Given the description of an element on the screen output the (x, y) to click on. 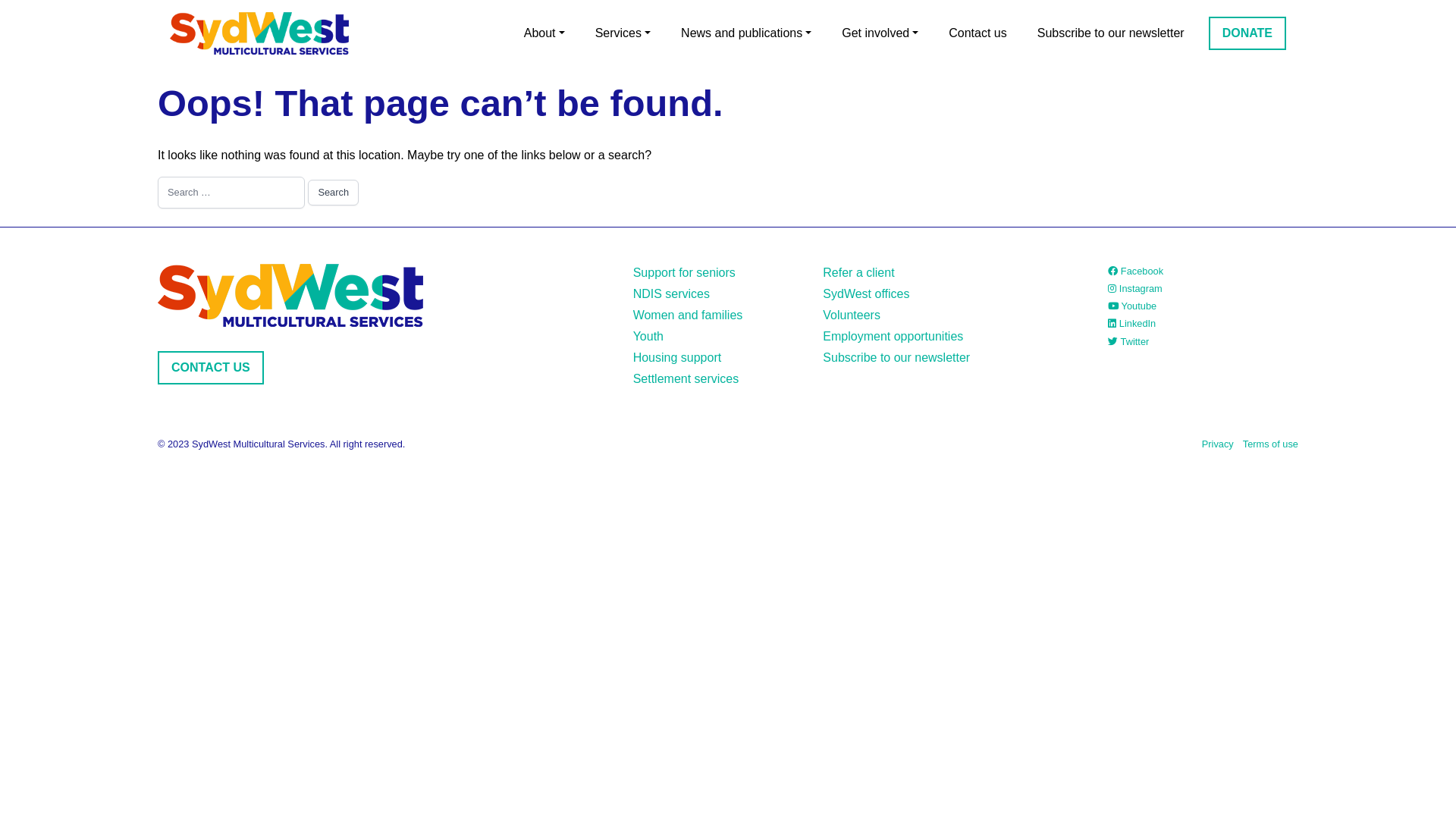
Support for seniors Element type: text (684, 272)
Search Element type: text (332, 192)
Employment opportunities Element type: text (892, 335)
Youtube Element type: text (1131, 305)
Contact us Element type: text (977, 33)
Terms of use Element type: text (1270, 443)
Privacy Element type: text (1217, 443)
Volunteers Element type: text (851, 314)
Youth Element type: text (648, 335)
CONTACT US Element type: text (210, 367)
Twitter Element type: text (1127, 341)
Facebook Element type: text (1135, 270)
Services Element type: text (622, 33)
Subscribe to our newsletter Element type: text (895, 357)
Instagram Element type: text (1134, 288)
Women and families Element type: text (688, 314)
LinkedIn Element type: text (1131, 323)
Refer a client Element type: text (858, 272)
SydWest offices Element type: text (865, 293)
Get involved Element type: text (879, 33)
Settlement services Element type: text (686, 378)
NDIS services Element type: text (671, 293)
Subscribe to our newsletter Element type: text (1110, 33)
Housing support Element type: text (677, 357)
About Element type: text (544, 33)
News and publications Element type: text (745, 33)
Search for: Element type: hover (230, 192)
DONATE Element type: text (1247, 33)
